Given the description of an element on the screen output the (x, y) to click on. 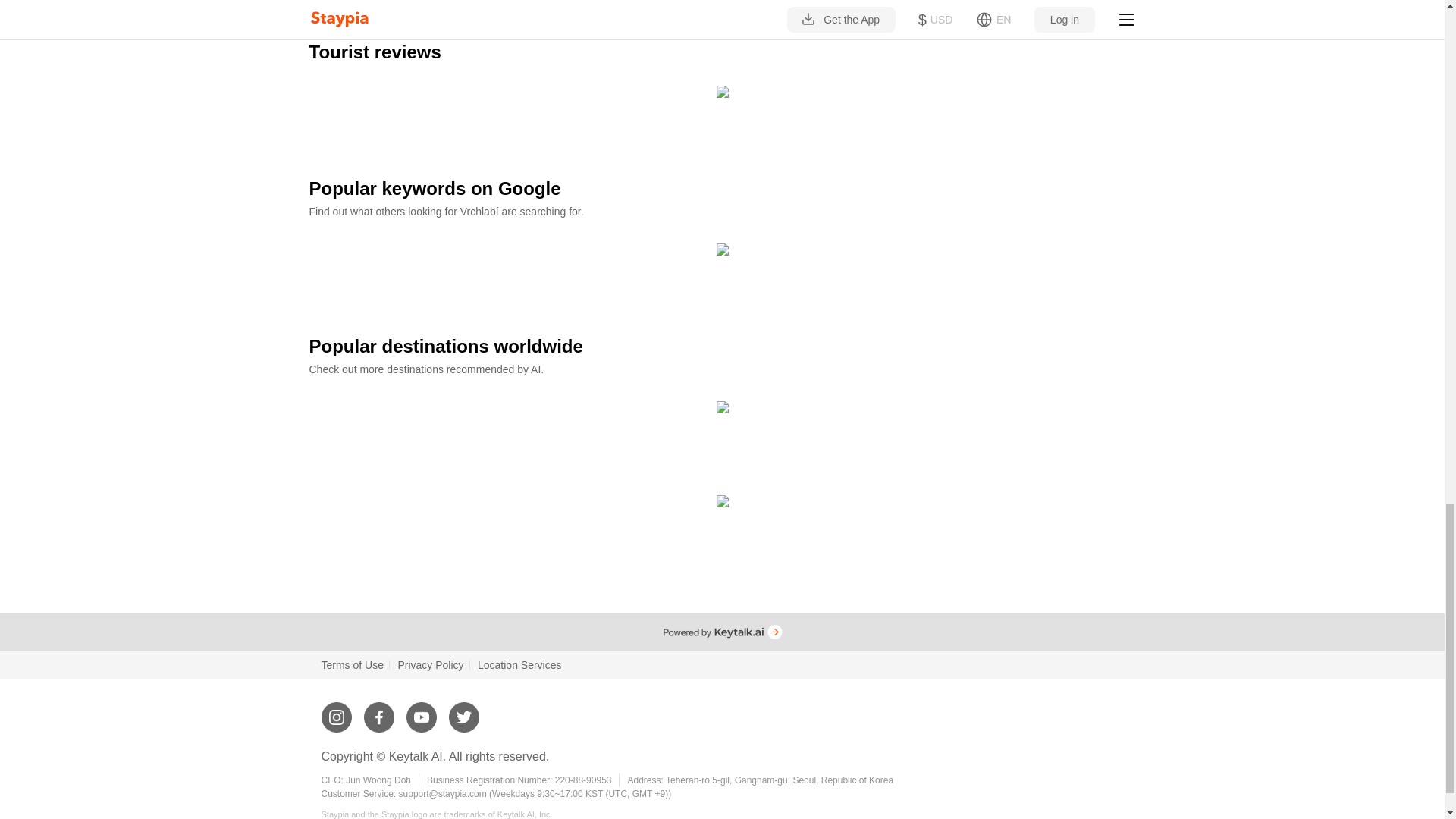
instagram (336, 710)
Terms of Use (352, 664)
facebook (379, 710)
Privacy Policy (430, 664)
Location Services (519, 664)
twitter (463, 710)
youtube (421, 710)
